Given the description of an element on the screen output the (x, y) to click on. 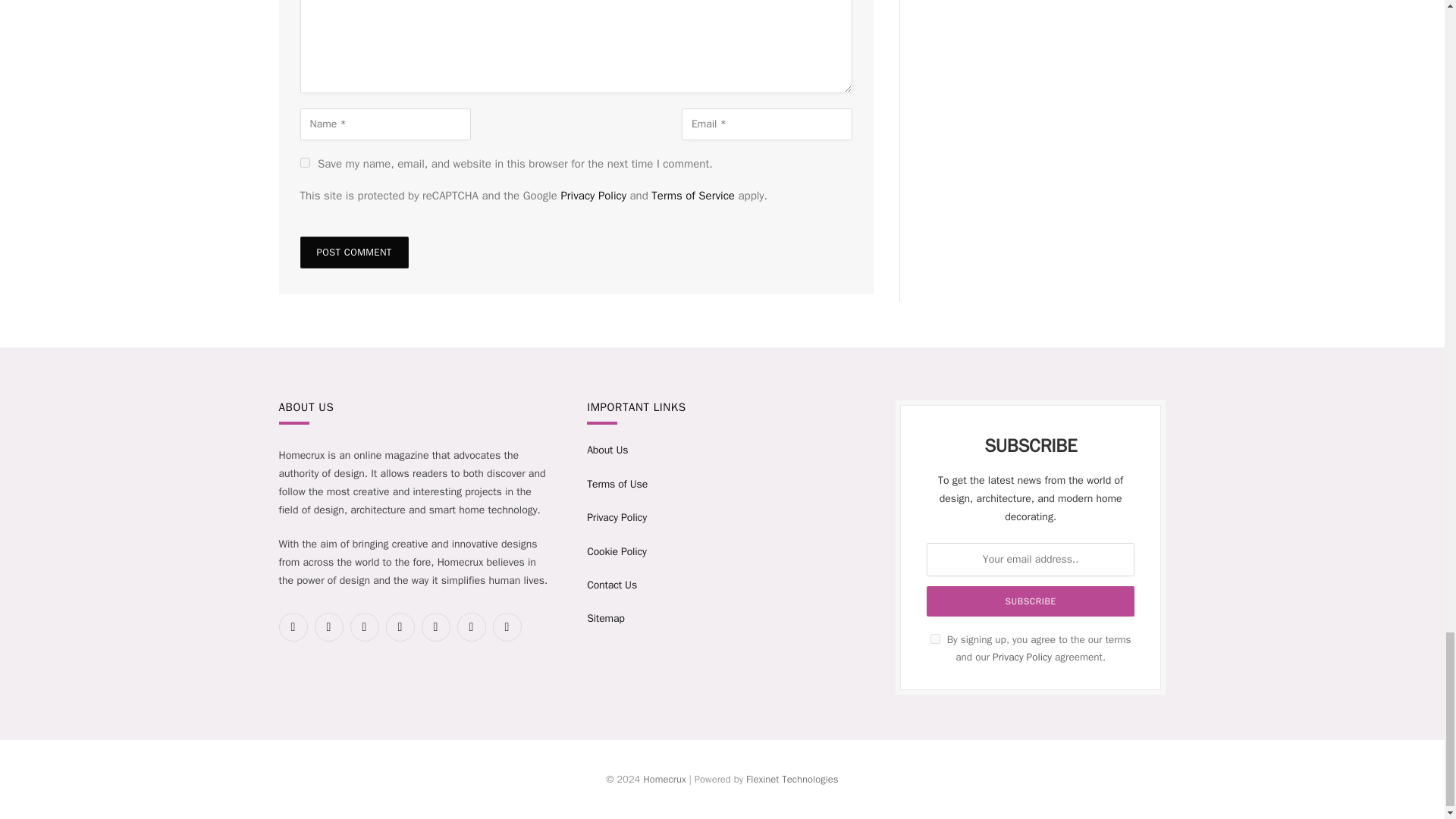
SUBSCRIBE (1030, 601)
yes (304, 162)
on (935, 638)
Post Comment (354, 252)
